Given the description of an element on the screen output the (x, y) to click on. 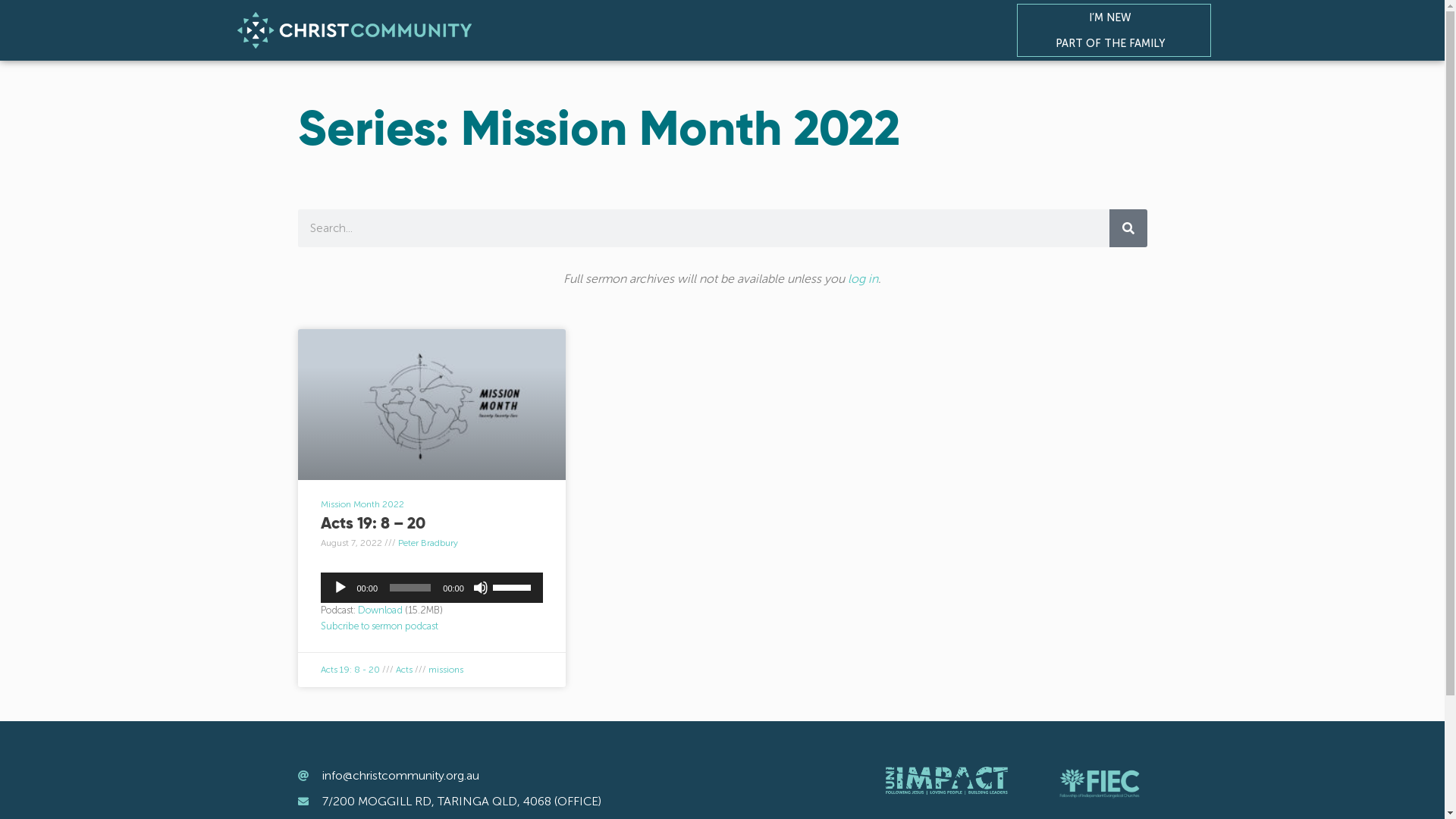
Peter Bradbury Element type: text (427, 542)
Acts 19: 8 - 20 Element type: text (349, 669)
missions Element type: text (444, 669)
Search Element type: hover (1127, 228)
info@christcommunity.org.au Element type: text (548, 775)
log in Element type: text (862, 278)
Mute Element type: hover (480, 587)
Download Element type: text (379, 609)
Use Up/Down Arrow keys to increase or decrease volume. Element type: text (513, 585)
PART OF THE FAMILY Element type: text (1114, 43)
Search Element type: hover (702, 228)
Acts Element type: text (403, 669)
Mission Month 2022 Element type: text (361, 503)
Subcribe to sermon podcast Element type: text (378, 625)
Play Element type: hover (339, 587)
